Given the description of an element on the screen output the (x, y) to click on. 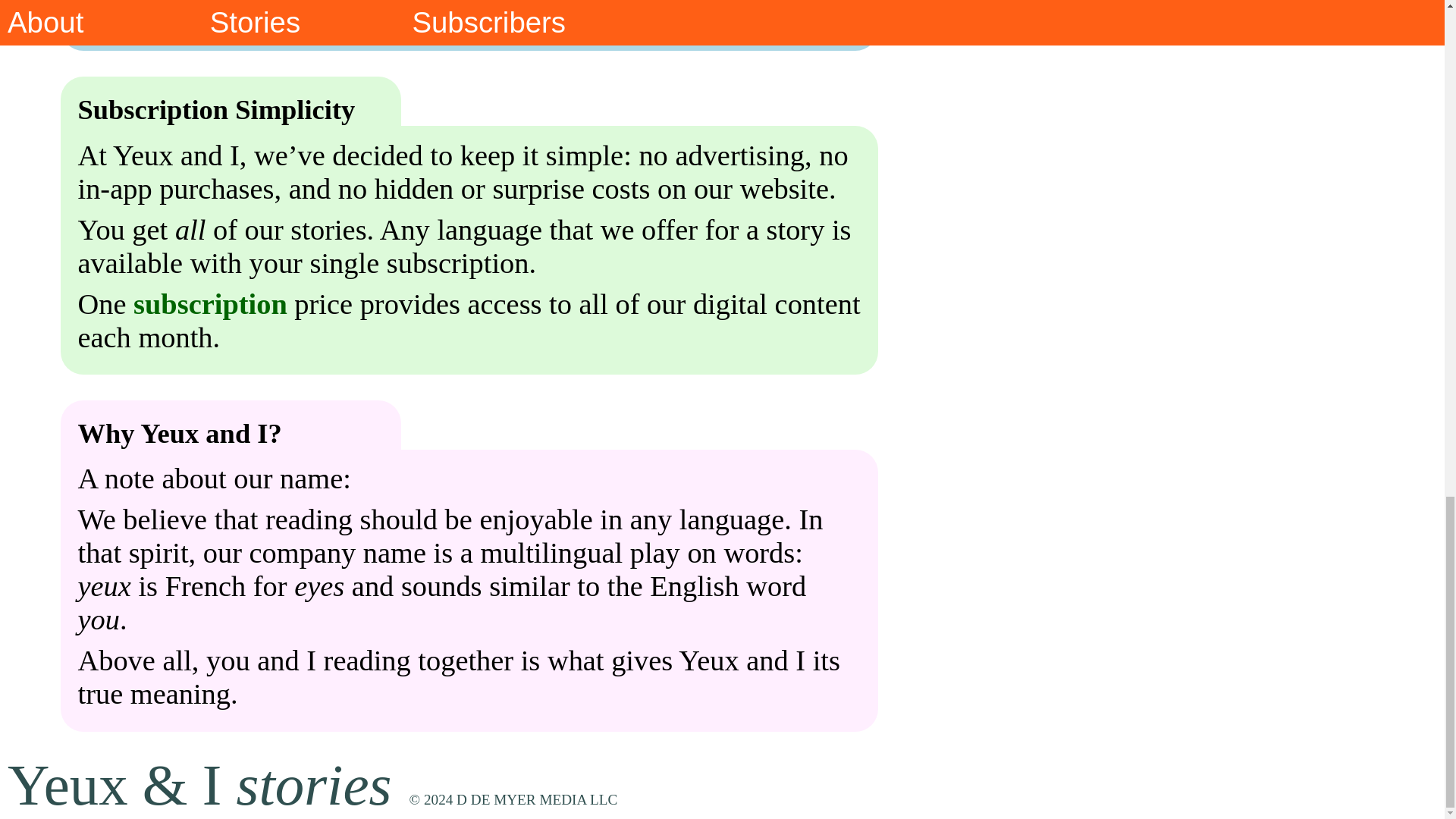
here (175, 14)
subscription (209, 304)
